Given the description of an element on the screen output the (x, y) to click on. 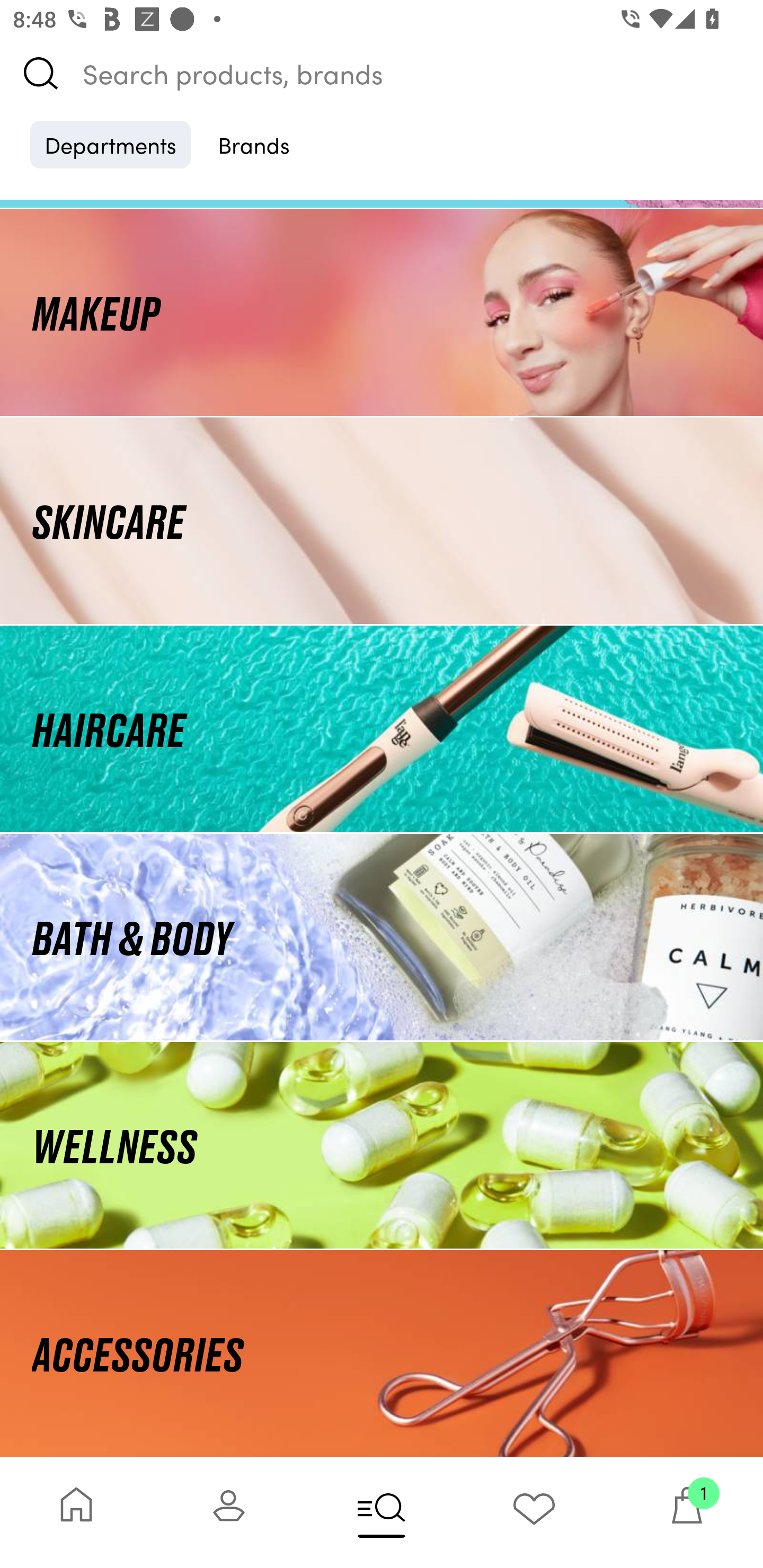
Search products, brands (381, 72)
Departments (110, 143)
Brands (253, 143)
MAKEUP (381, 311)
SKINCARE (381, 520)
HAIRCARE (381, 728)
BATH & BODY (381, 937)
WELLNESS (381, 1145)
ACCESSORIES (381, 1352)
1 (686, 1512)
